Given the description of an element on the screen output the (x, y) to click on. 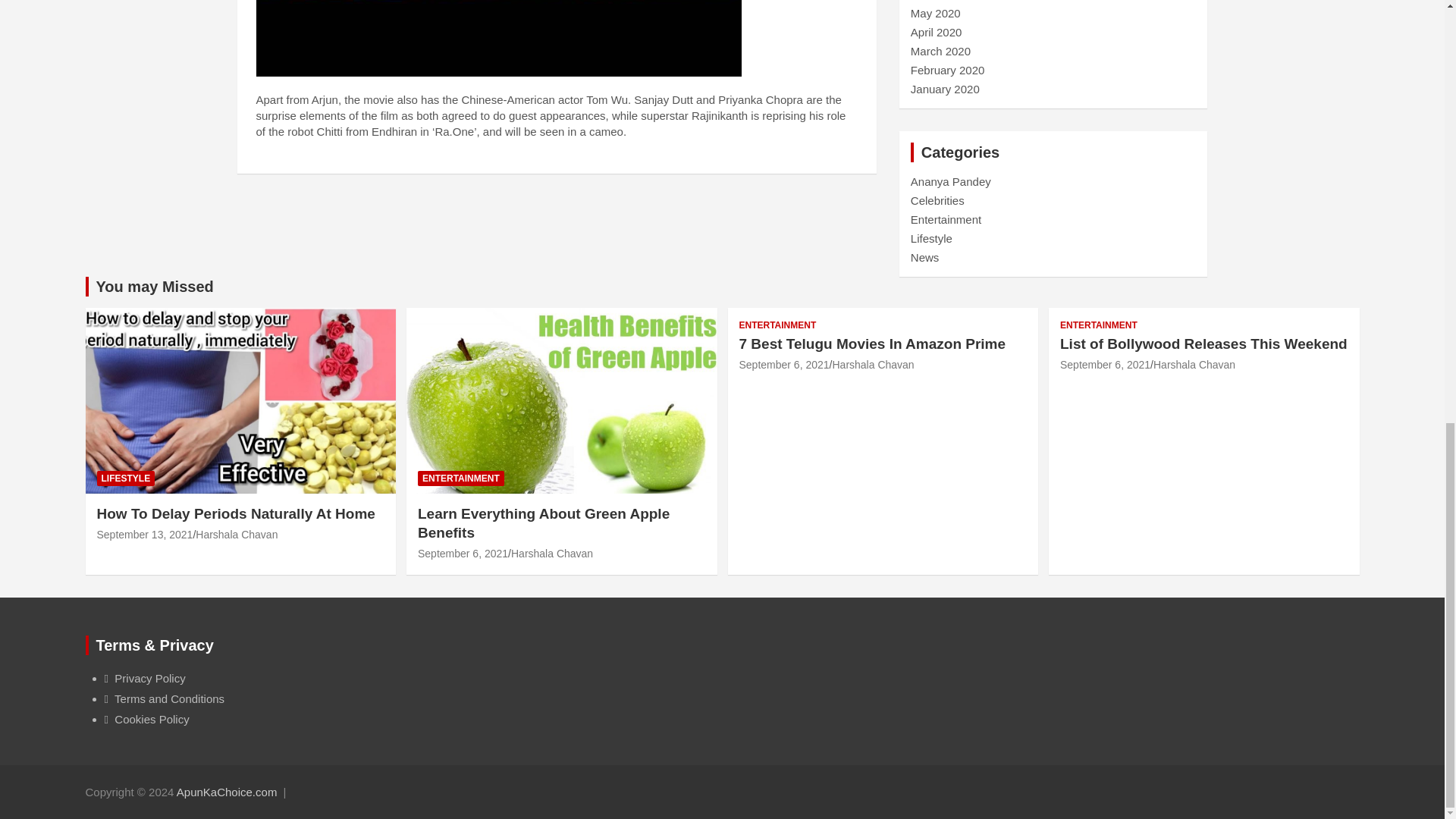
ApunKaChoice.com (227, 791)
February 2020 (948, 69)
Learn Everything About Green Apple Benefits (462, 553)
Lifestyle (931, 237)
Entertainment (946, 219)
September 13, 2021 (145, 534)
Ananya Pandey (951, 181)
LIFESTYLE (126, 478)
7 Best Telugu Movies In Amazon Prime (783, 364)
Harshala Chavan (236, 534)
June 2020 (937, 0)
January 2020 (945, 88)
How To Delay Periods Naturally At Home (145, 534)
March 2020 (941, 51)
May 2020 (935, 12)
